Given the description of an element on the screen output the (x, y) to click on. 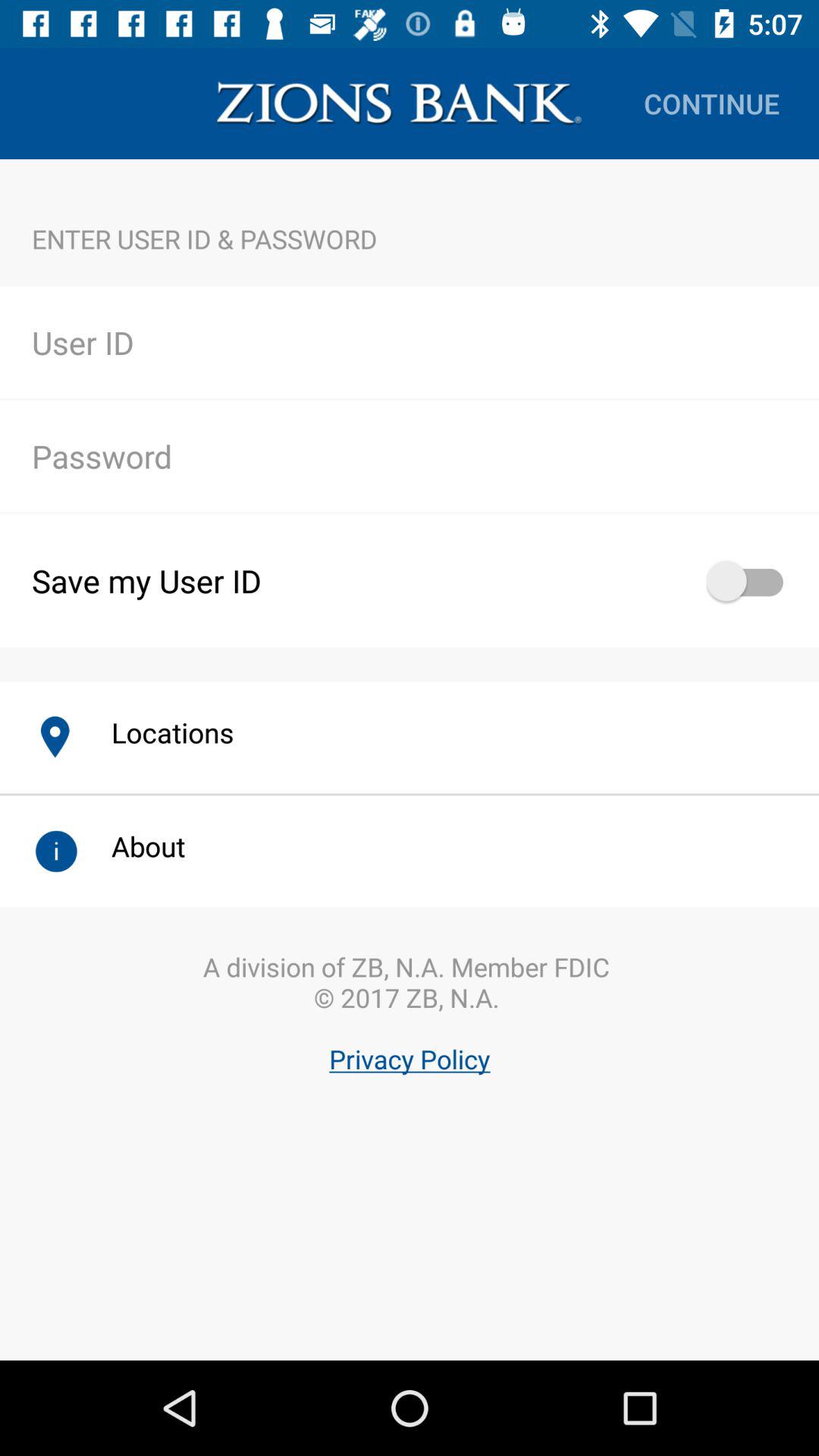
swipe until the continue (711, 103)
